Given the description of an element on the screen output the (x, y) to click on. 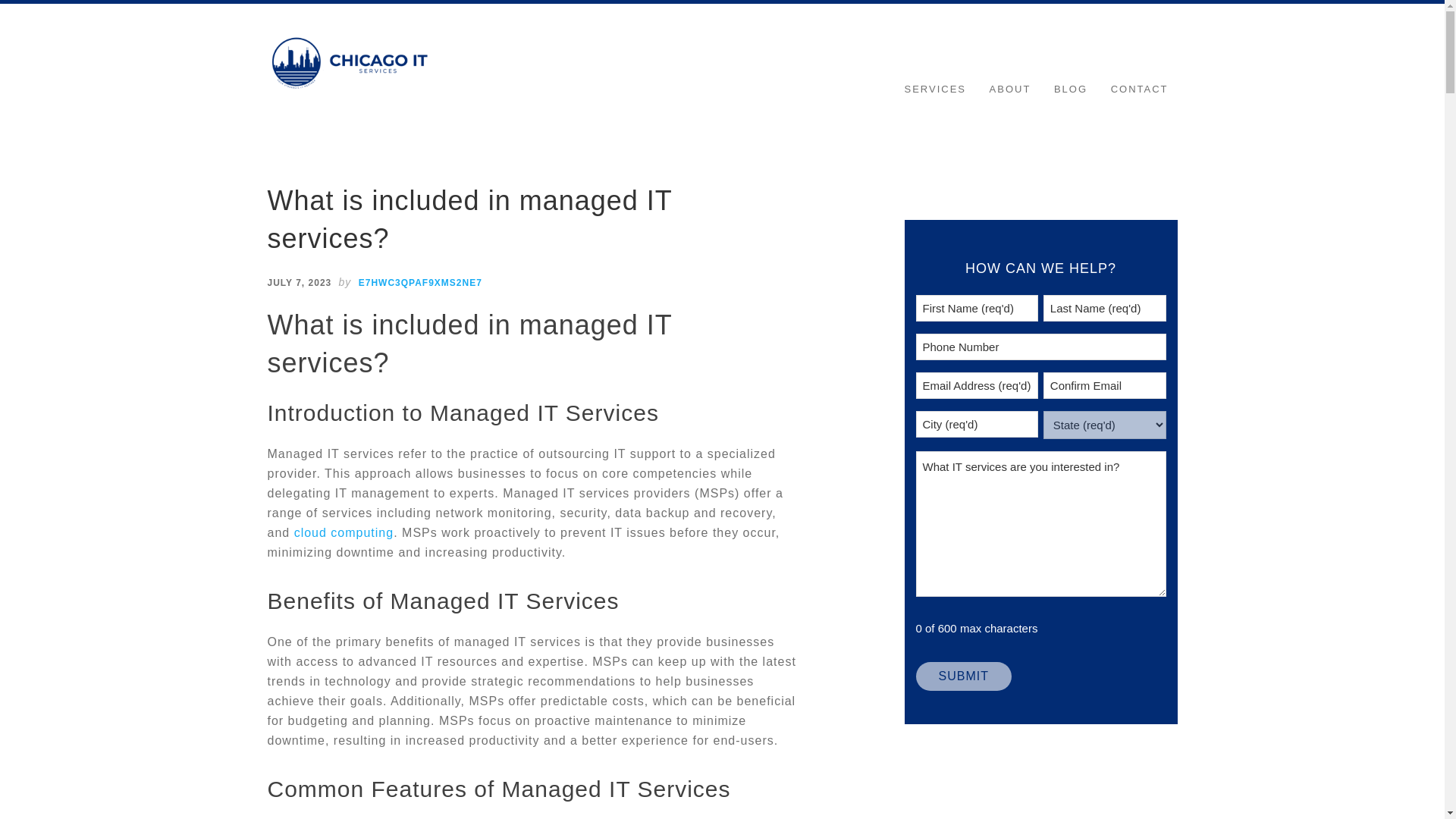
BLOG (1070, 88)
What is included in managed IT services? (468, 219)
Submit (963, 676)
E7HWC3QPAF9XMS2NE7 (419, 282)
cloud computing (344, 532)
CONTACT (1139, 88)
SERVICES (935, 88)
ABOUT (1010, 88)
IT Company Chicago (349, 62)
